Given the description of an element on the screen output the (x, y) to click on. 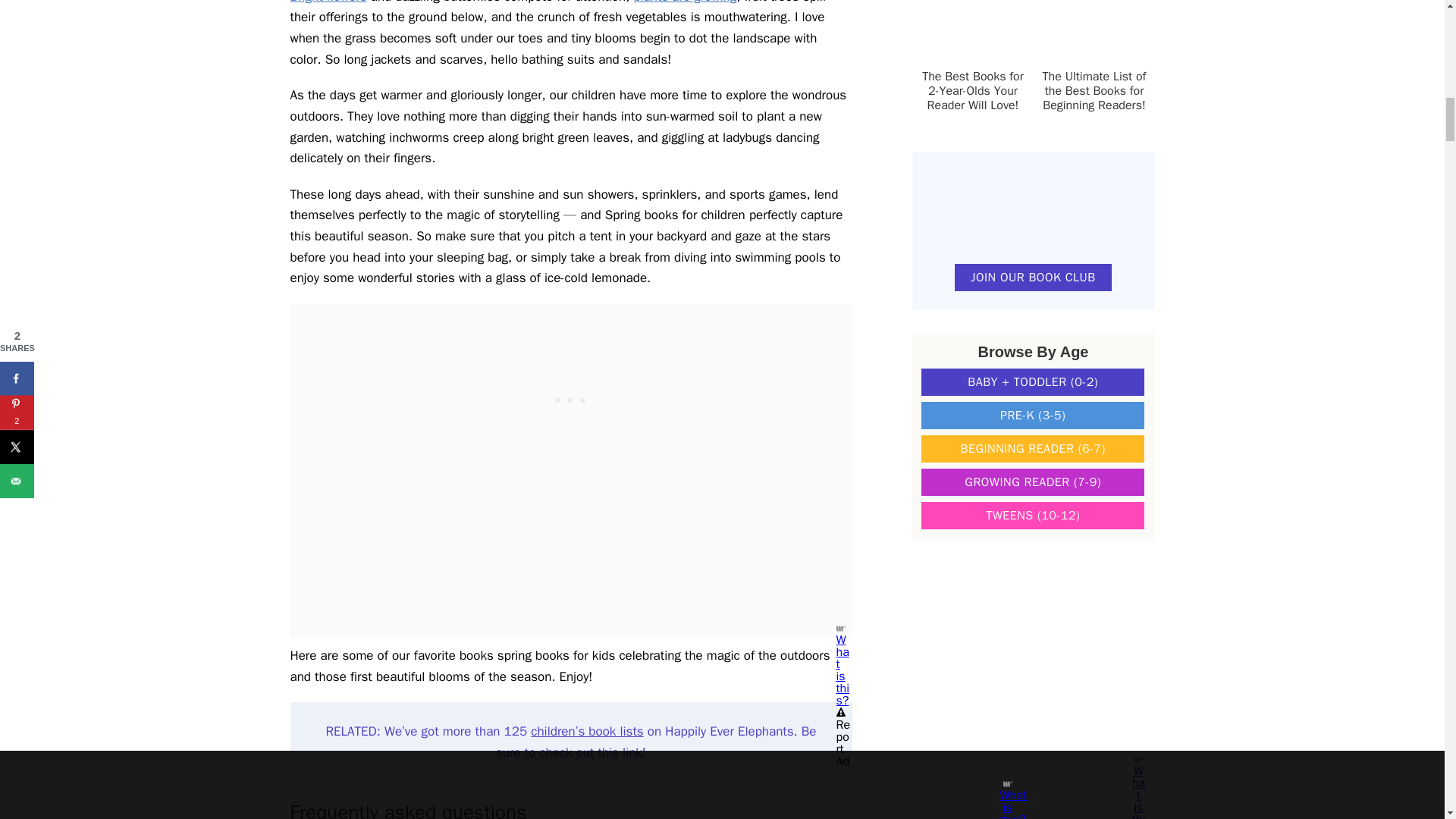
plants are growing (684, 2)
3rd party ad content (1032, 657)
3rd party ad content (570, 398)
Bright flowers (327, 2)
Frequently asked questions (570, 807)
